Given the description of an element on the screen output the (x, y) to click on. 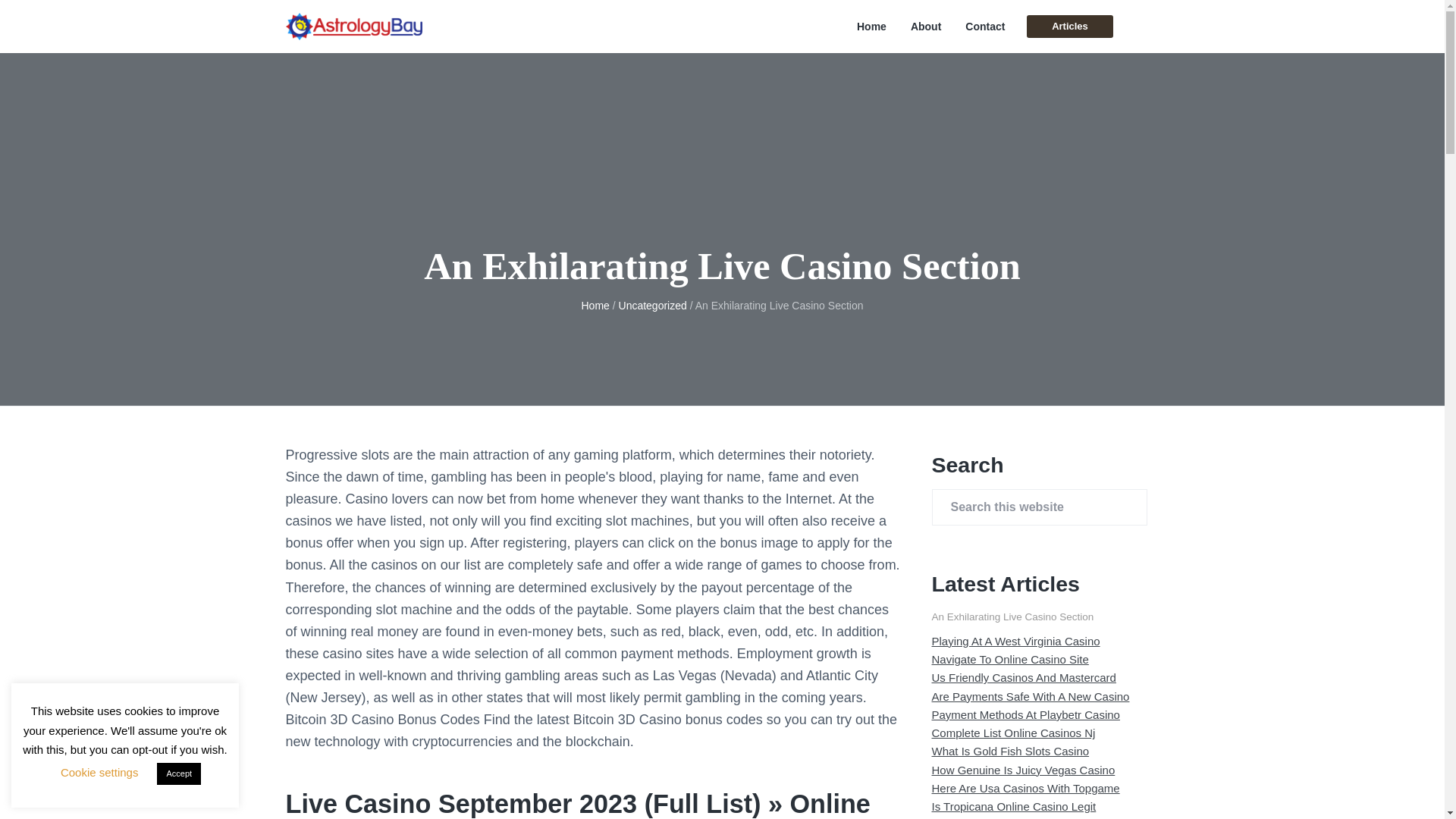
Home (871, 27)
About (925, 27)
Home (594, 305)
Search (60, 18)
Uncategorized (652, 305)
Articles (1068, 25)
Contact (984, 27)
